Given the description of an element on the screen output the (x, y) to click on. 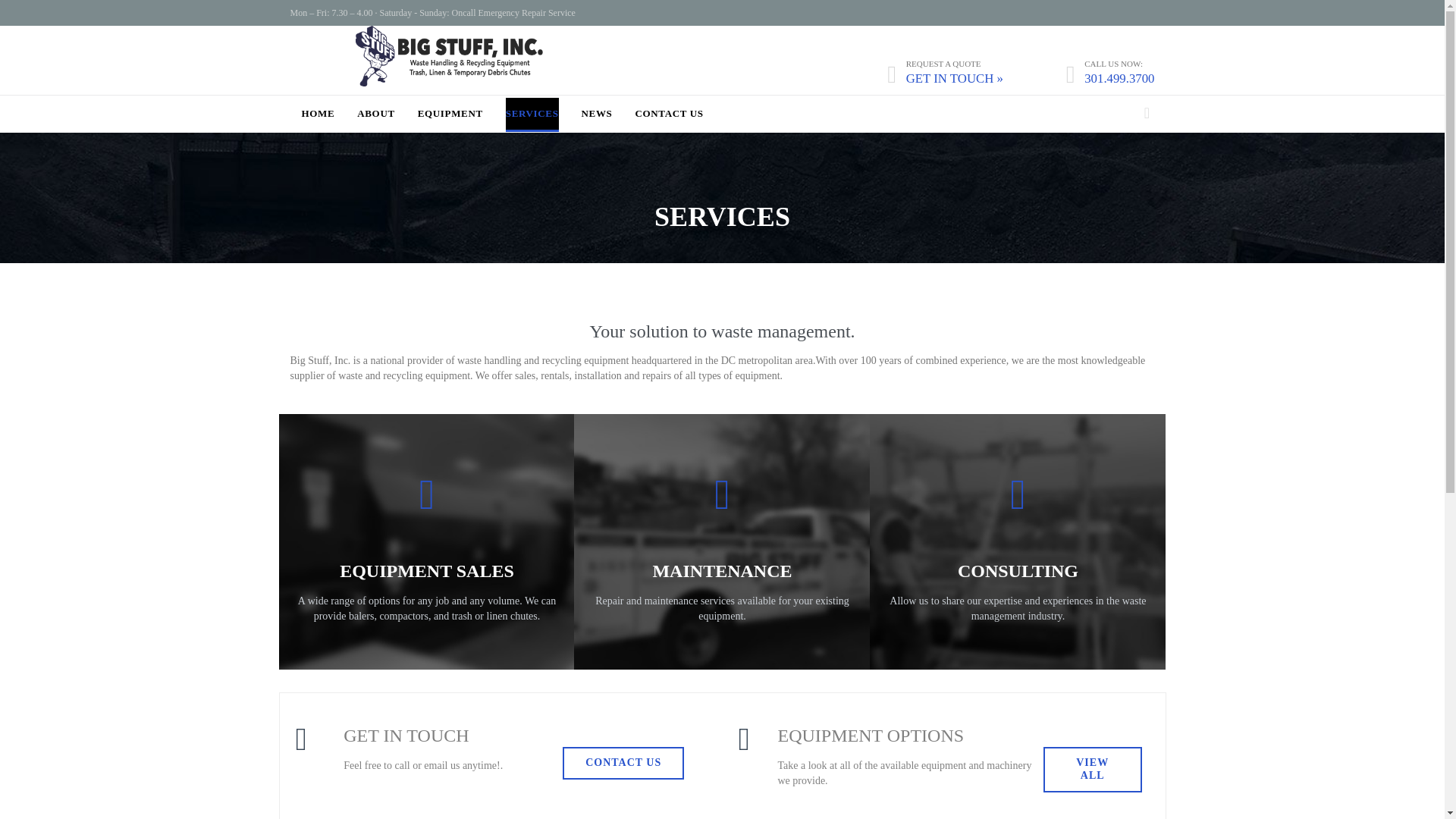
CONTACT US (668, 114)
Big Stuff, Inc. (448, 71)
HOME (317, 114)
VIEW INVENTORY (426, 685)
SERVICES (532, 114)
301.499.3700 (1119, 78)
GET IN TOUCH (1018, 685)
EQUIPMENT (450, 114)
REQUEST SERVICE (721, 685)
NEWS (596, 114)
ABOUT (375, 114)
